Given the description of an element on the screen output the (x, y) to click on. 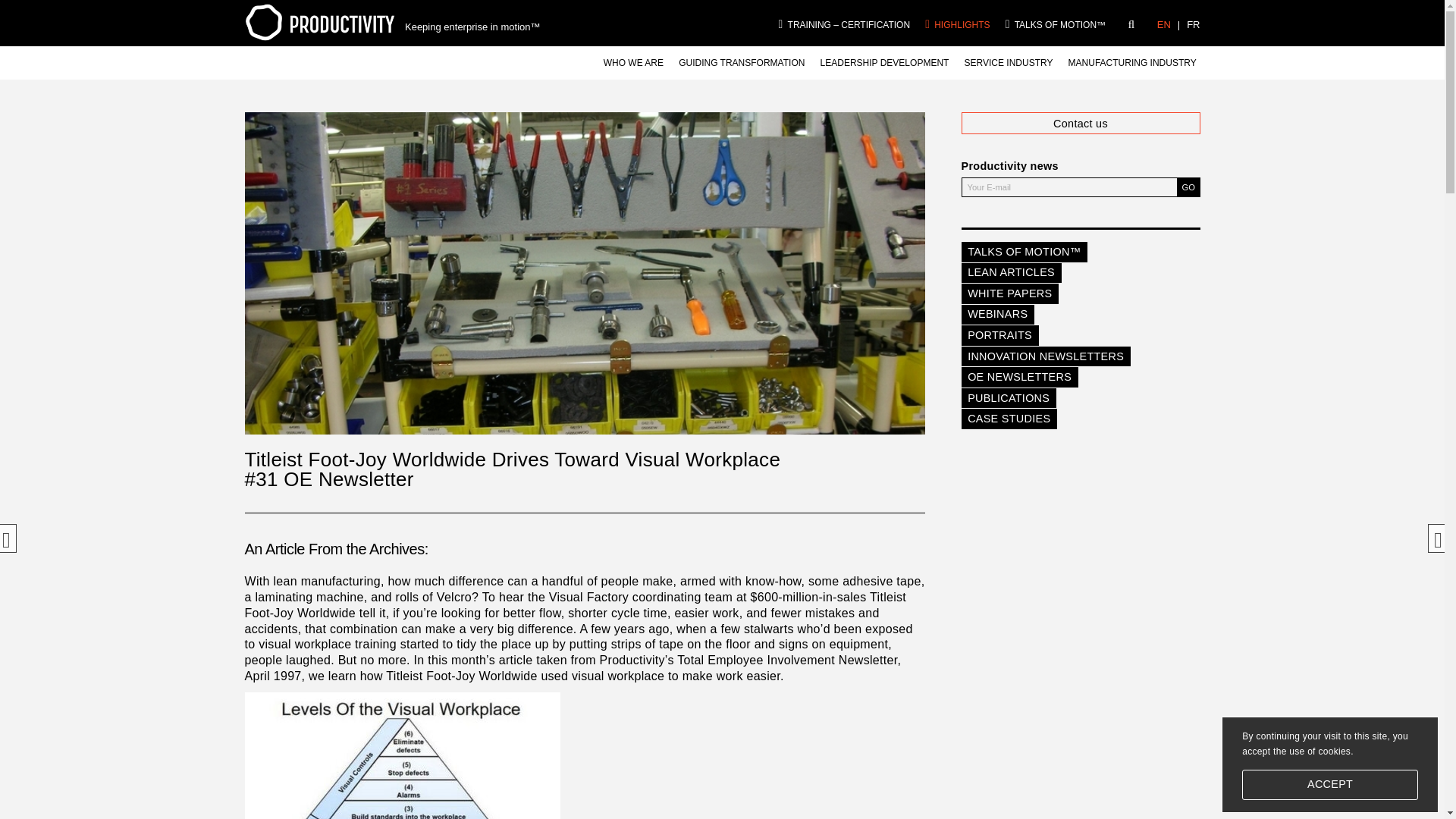
Go (1187, 187)
ACCEPT (1329, 784)
